Given the description of an element on the screen output the (x, y) to click on. 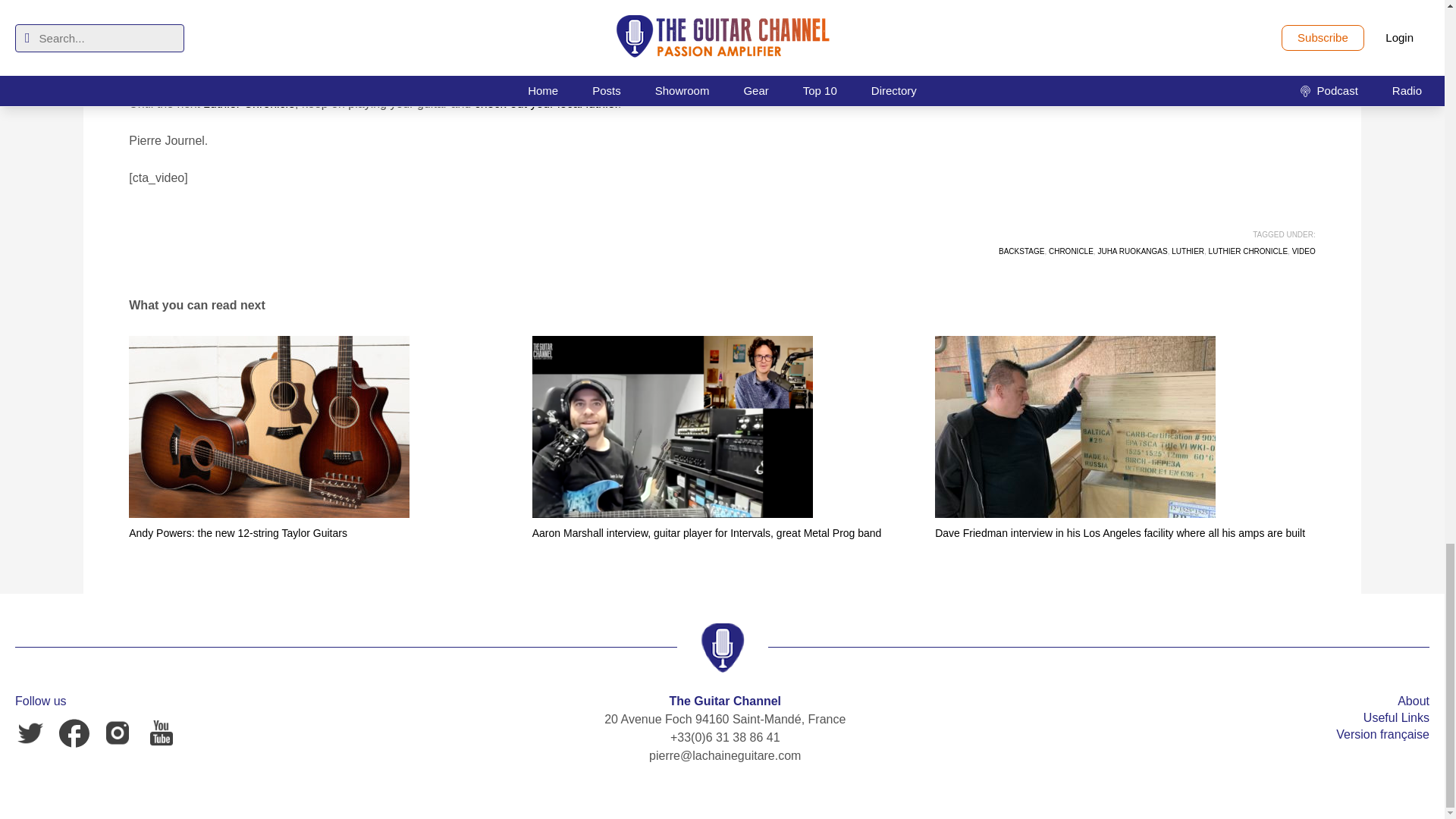
Aaron Marshall PJ Zoom 2020 (672, 426)
Usine Friedman 2020 6961 2 (1074, 426)
TaylorGuitars12string2016 (269, 426)
